Given the description of an element on the screen output the (x, y) to click on. 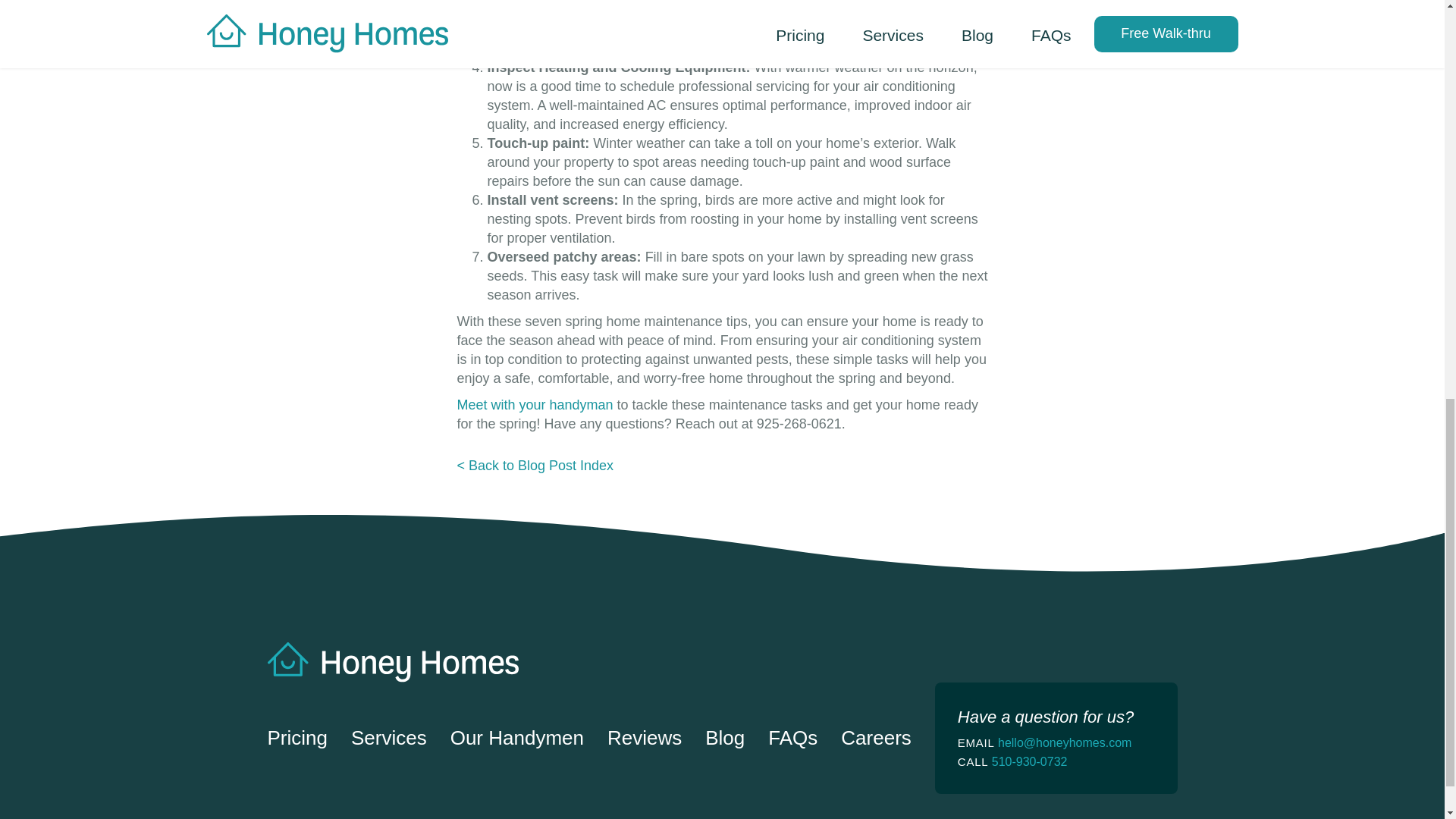
Meet with your handyman (534, 404)
Reviews (644, 737)
CALL 510-930-0732 (1056, 761)
Services (388, 737)
Our Handymen (516, 737)
Blog (724, 737)
Careers (876, 737)
Pricing (296, 737)
FAQs (792, 737)
